Given the description of an element on the screen output the (x, y) to click on. 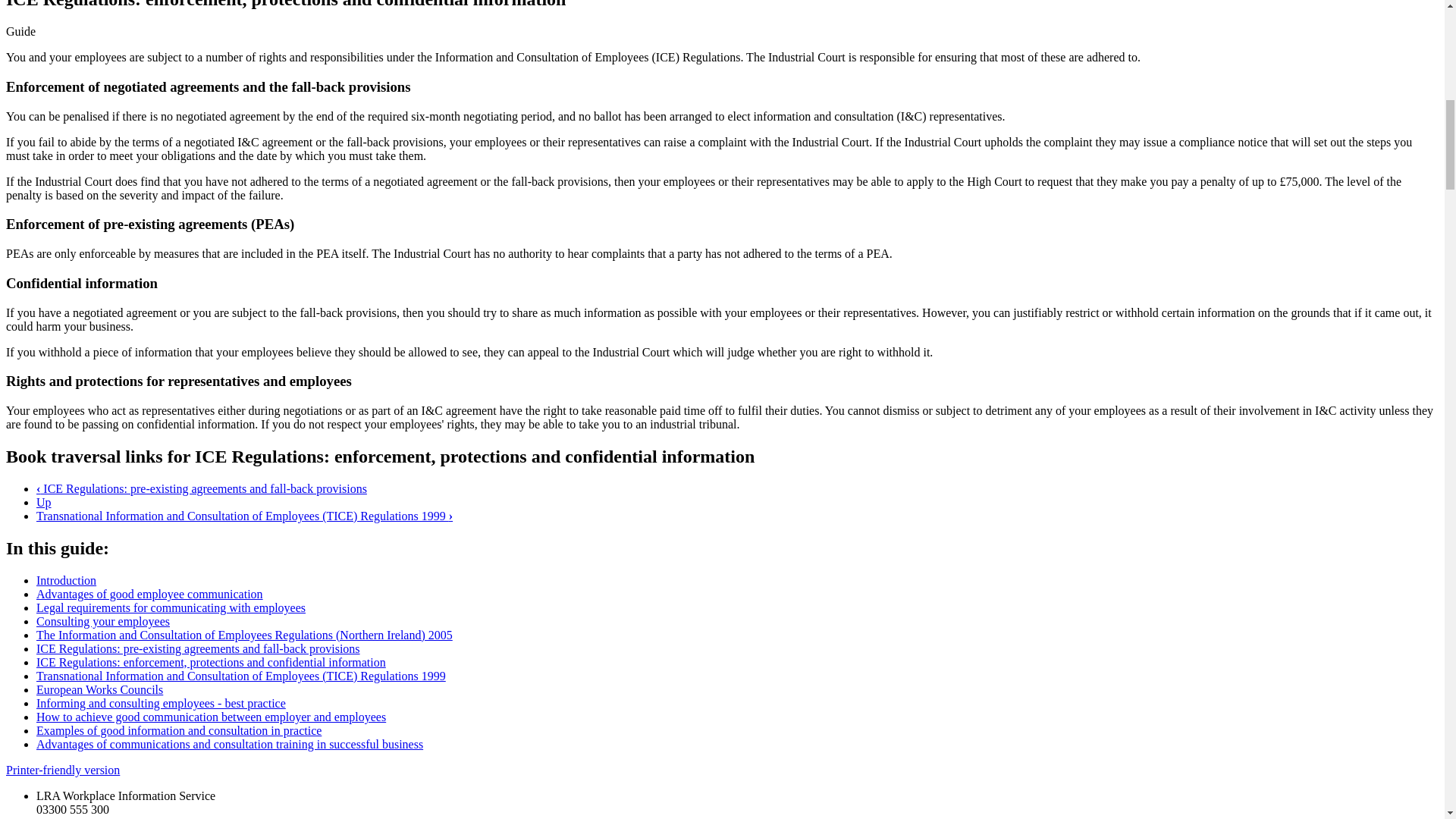
Go to parent page (43, 502)
Go to next page (244, 515)
Go to previous page (201, 488)
